Given the description of an element on the screen output the (x, y) to click on. 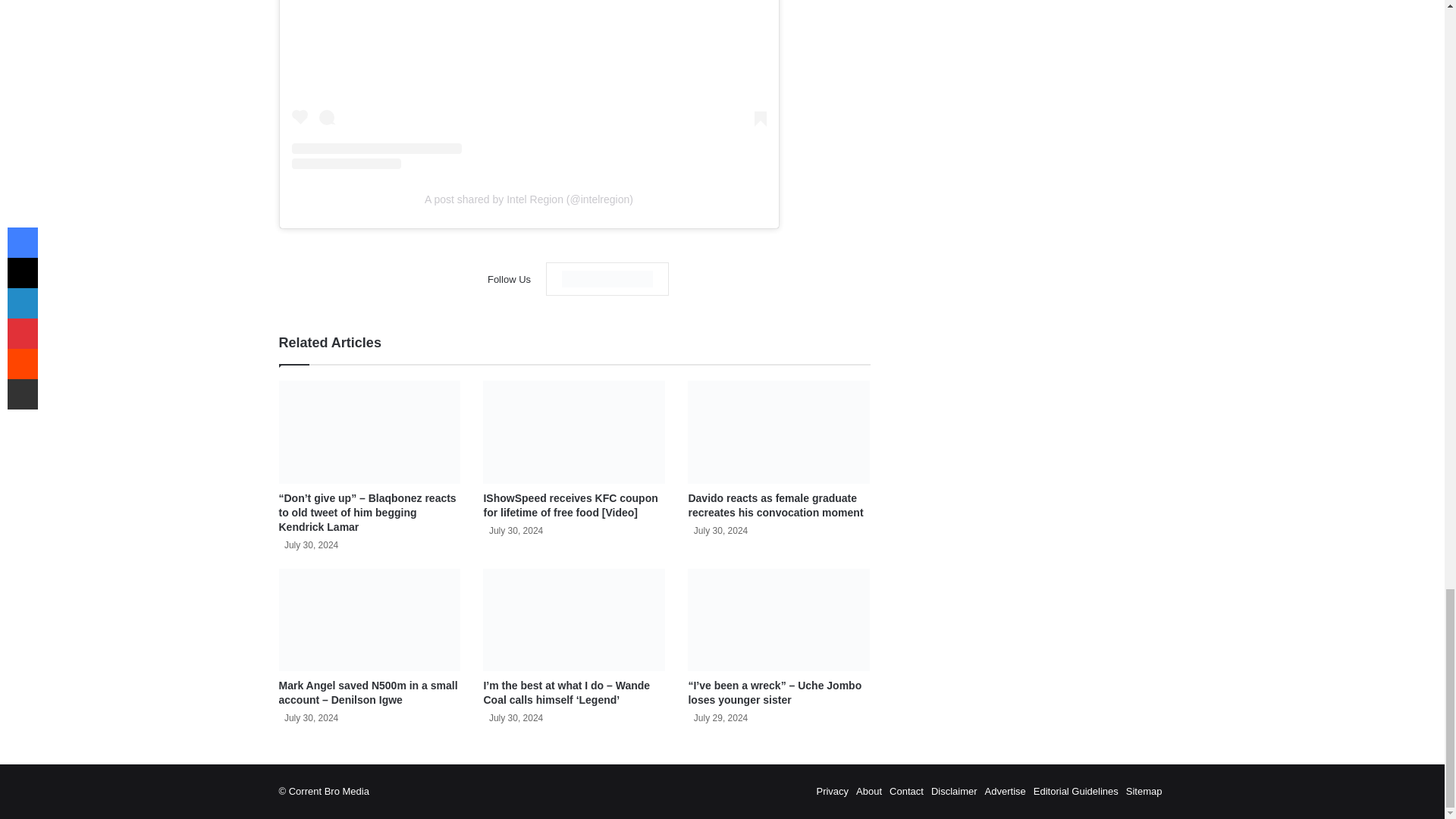
View this post on Instagram (528, 84)
